Given the description of an element on the screen output the (x, y) to click on. 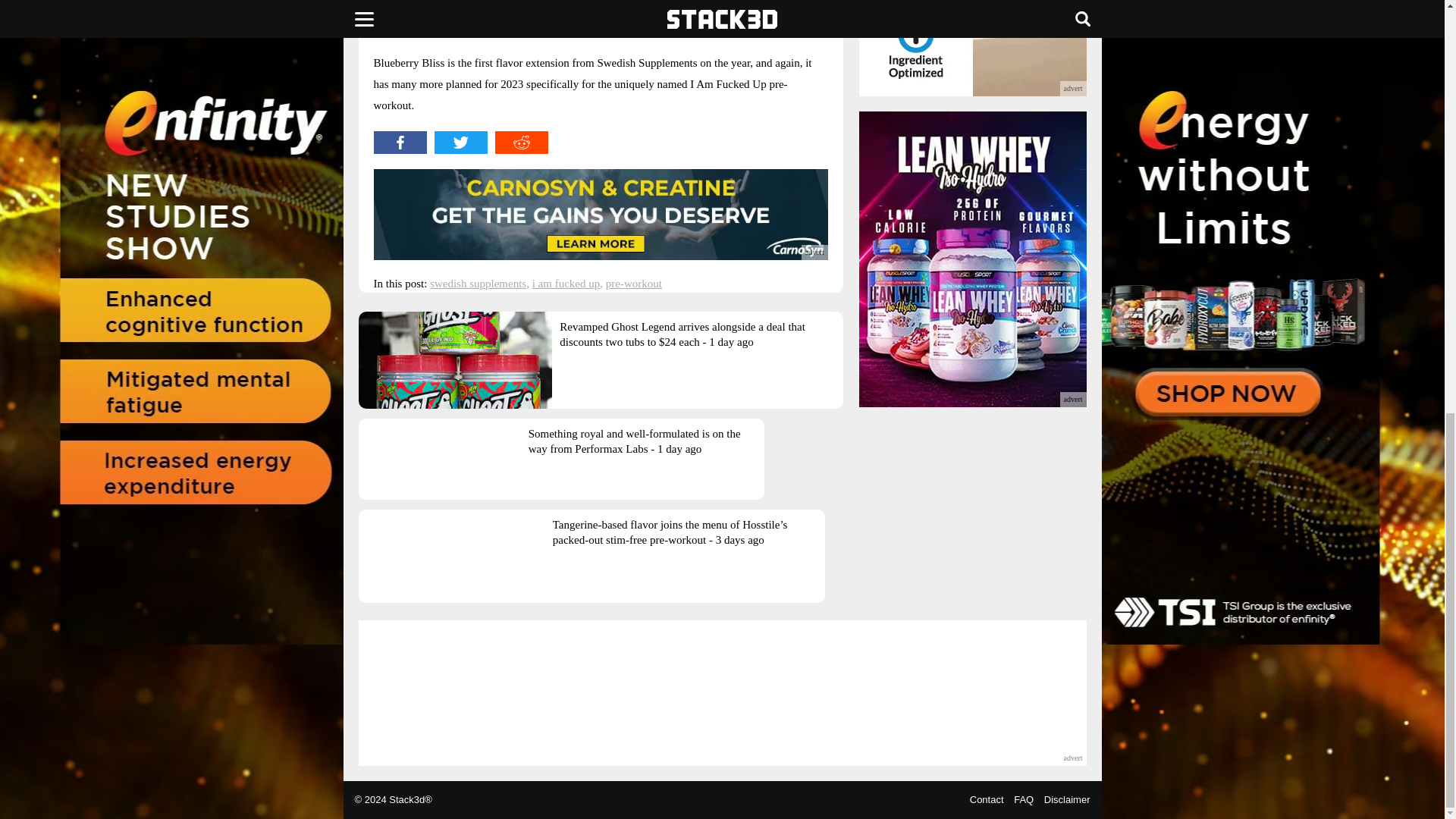
i am fucked up (565, 283)
swedish supplements (477, 283)
pre-workout (633, 283)
